Given the description of an element on the screen output the (x, y) to click on. 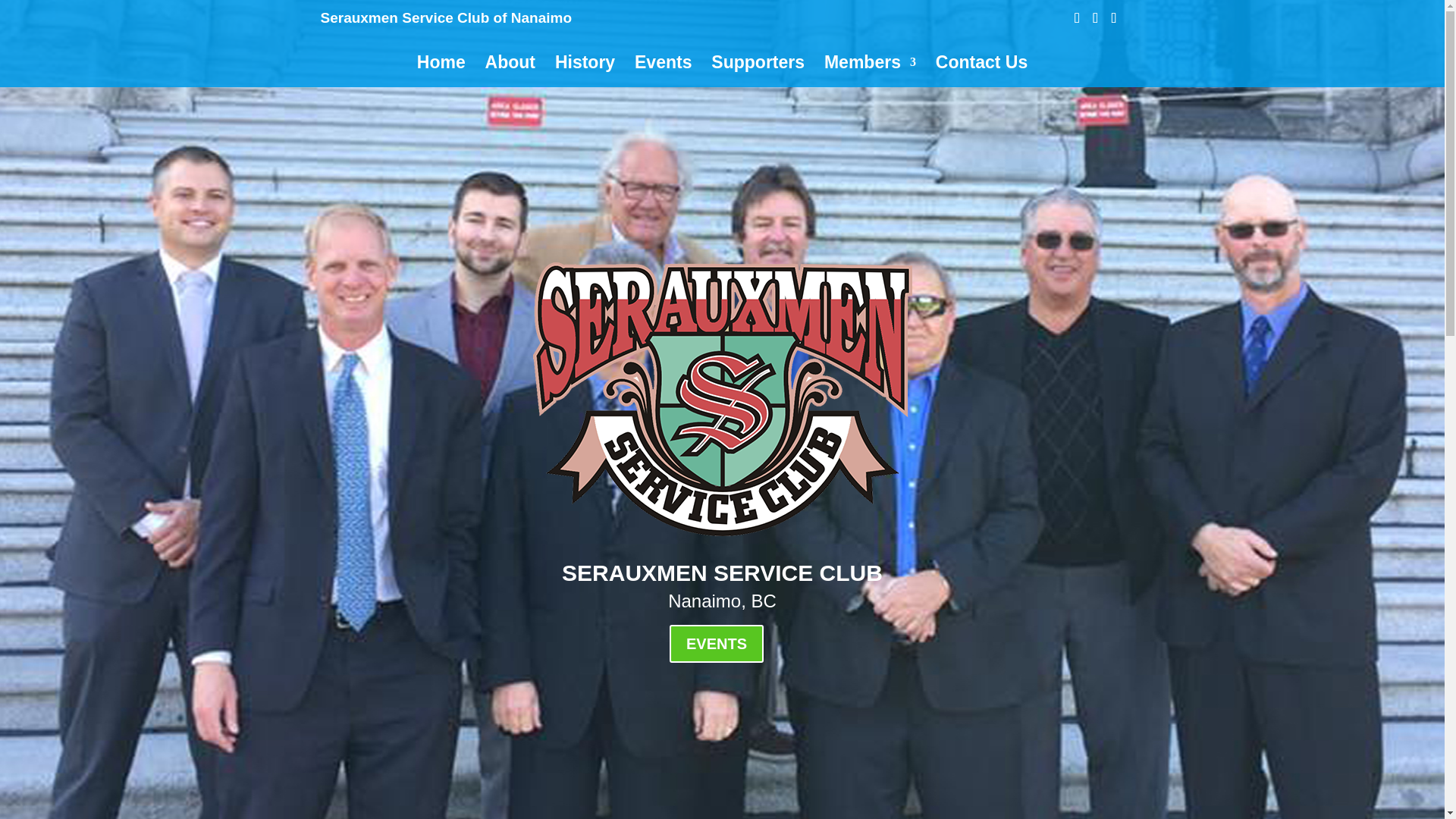
Members (869, 71)
About (509, 71)
Events (662, 71)
Supporters (758, 71)
History (584, 71)
Home (440, 71)
EVENTS (715, 643)
Contact Us (981, 71)
